Given the description of an element on the screen output the (x, y) to click on. 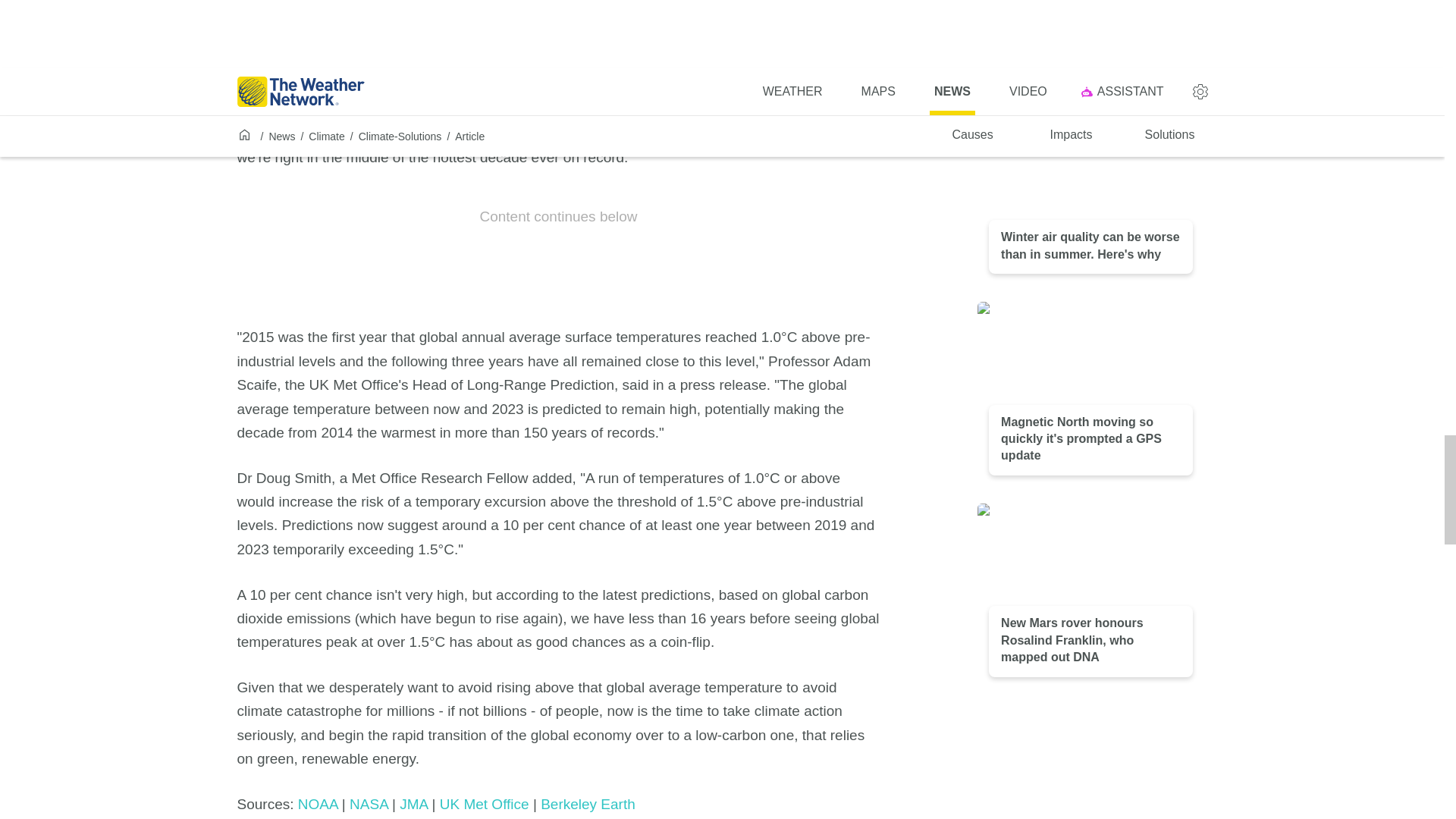
JMA (413, 804)
Berkeley Earth (587, 804)
NASA (368, 804)
NOAA (317, 804)
UK Met Office (484, 804)
